Given the description of an element on the screen output the (x, y) to click on. 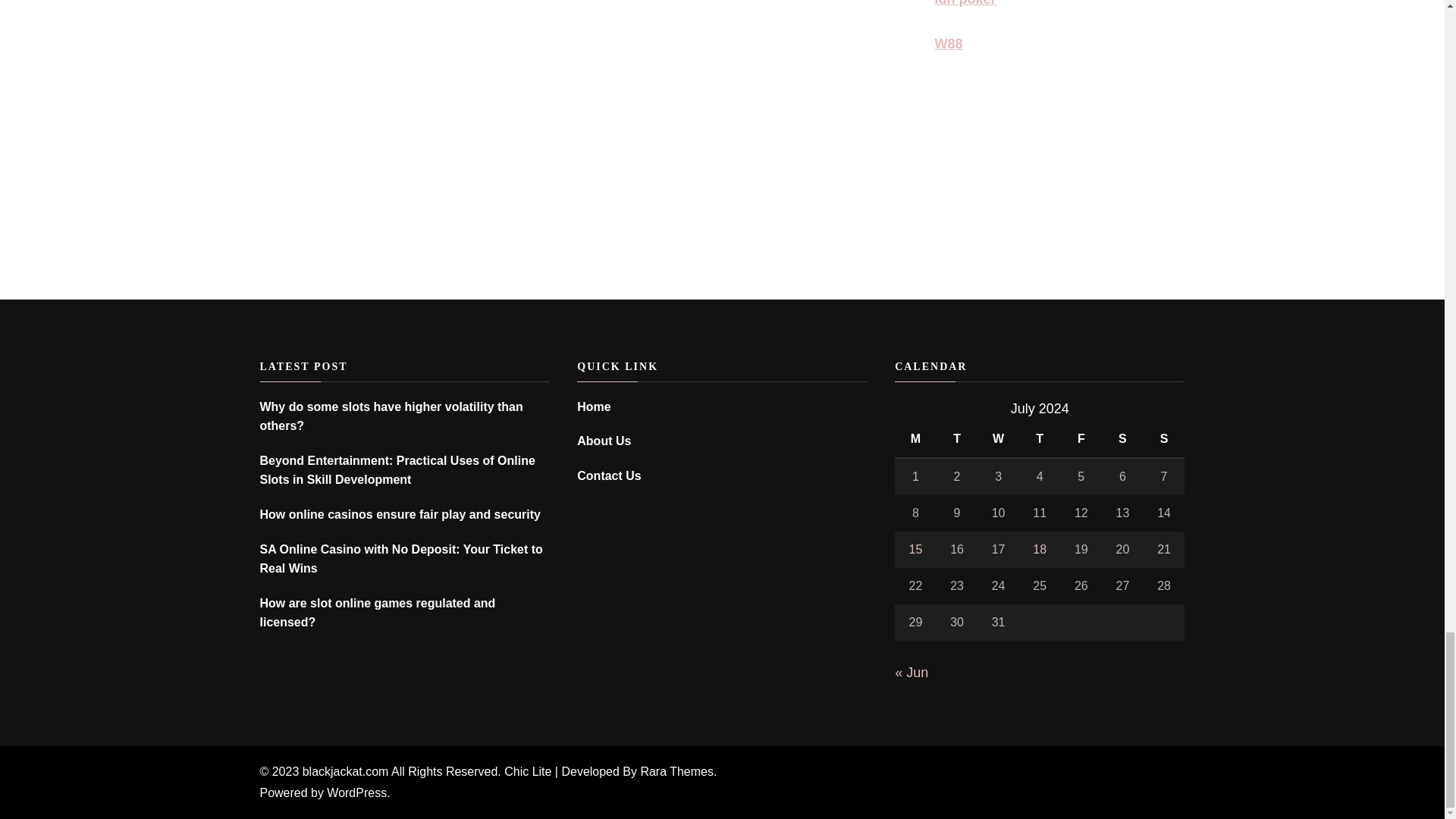
Wednesday (997, 438)
Saturday (1122, 438)
Friday (1080, 438)
Thursday (1040, 438)
Sunday (1163, 438)
Tuesday (957, 438)
Monday (915, 438)
